Given the description of an element on the screen output the (x, y) to click on. 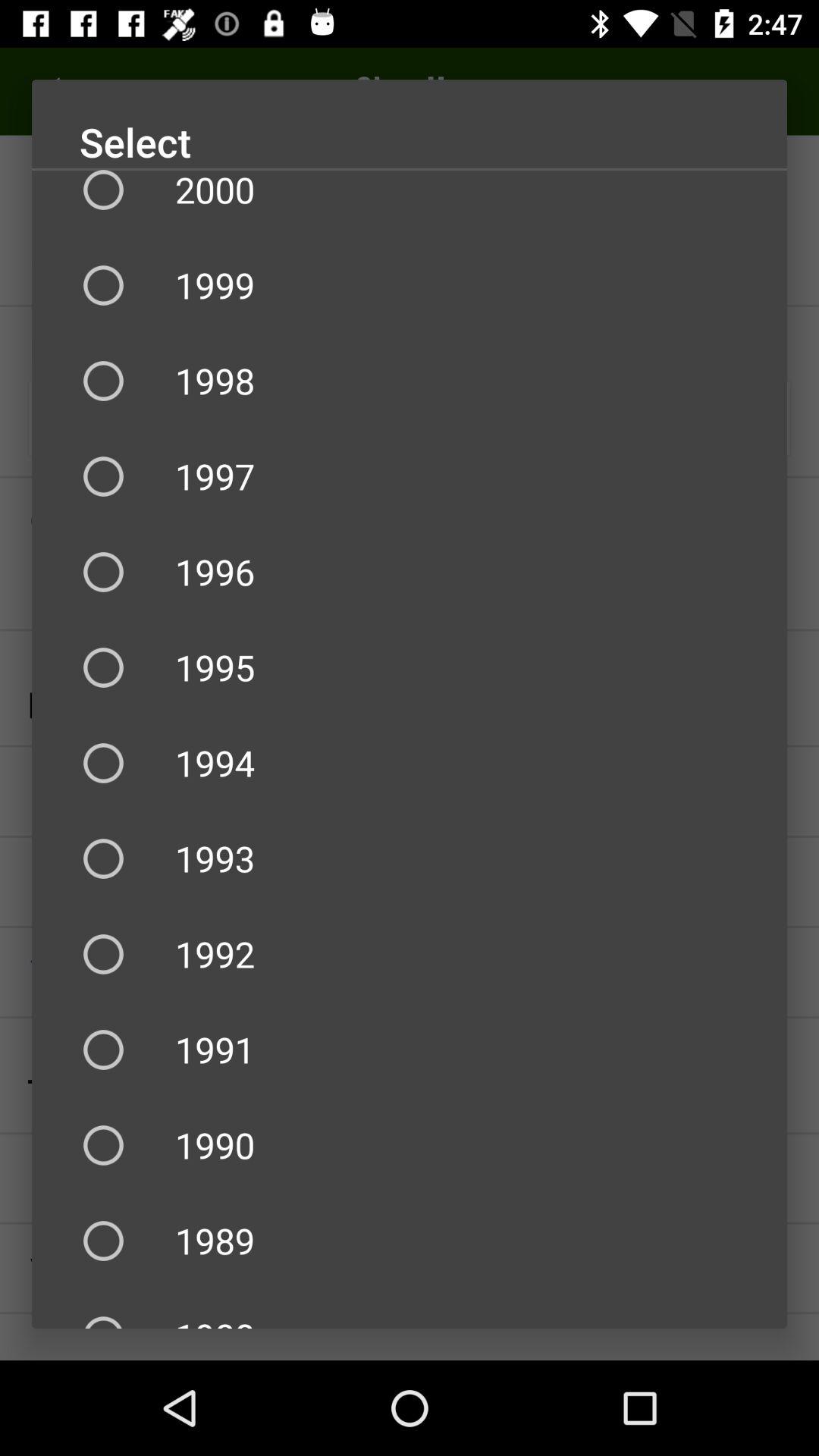
press item below 1990 icon (409, 1240)
